Given the description of an element on the screen output the (x, y) to click on. 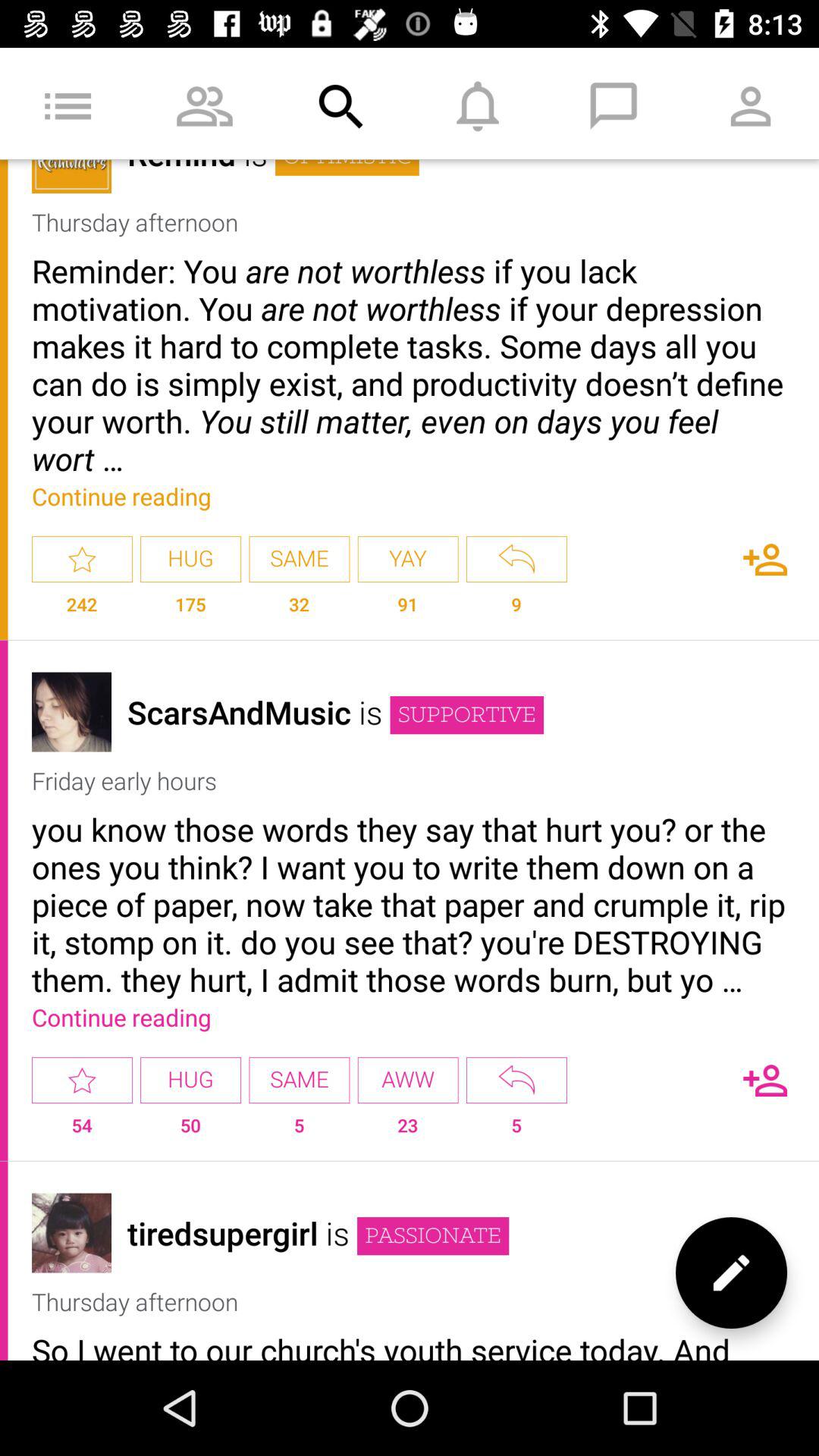
favorite (81, 559)
